Given the description of an element on the screen output the (x, y) to click on. 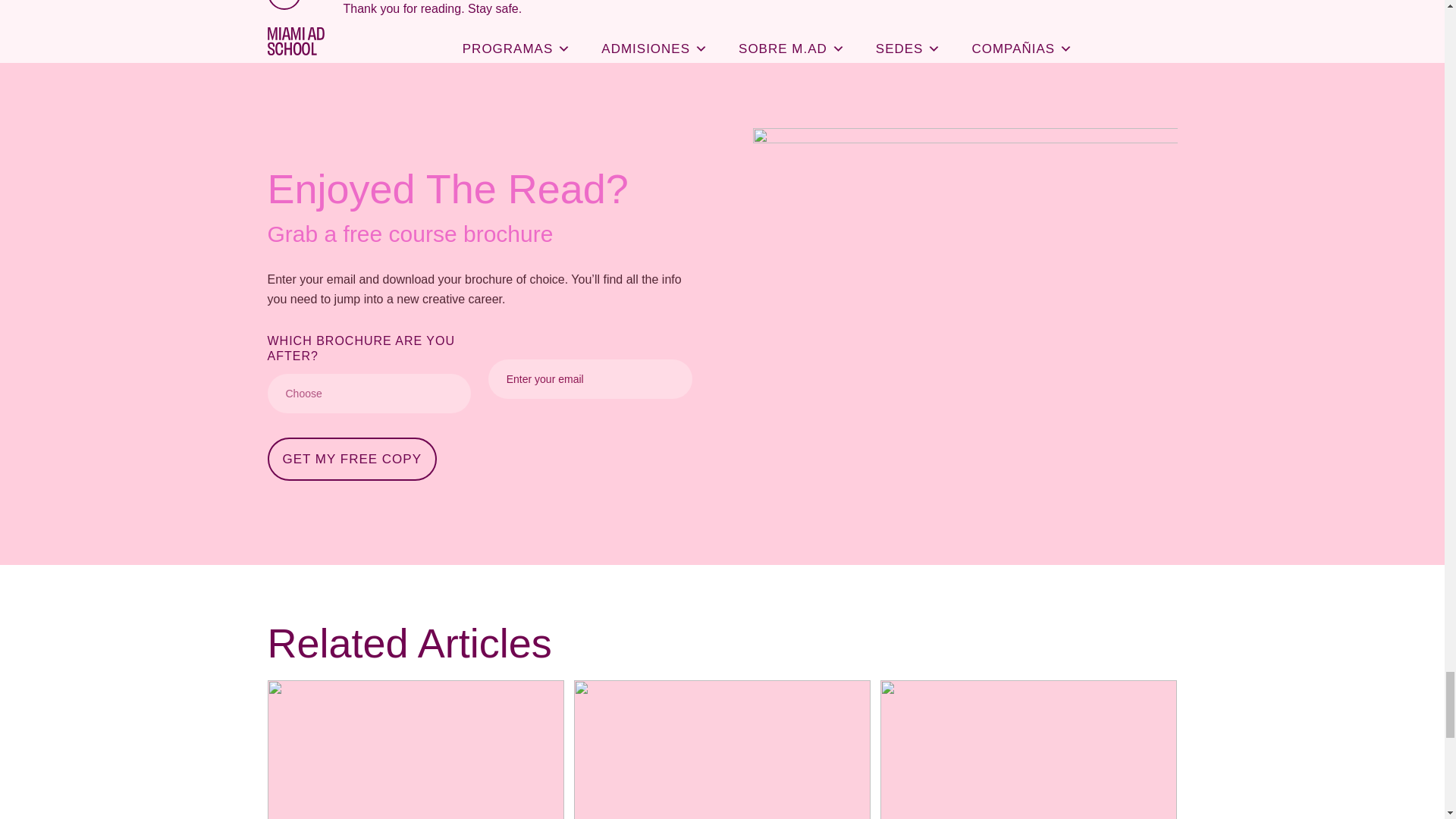
Get my free copy (351, 458)
